Given the description of an element on the screen output the (x, y) to click on. 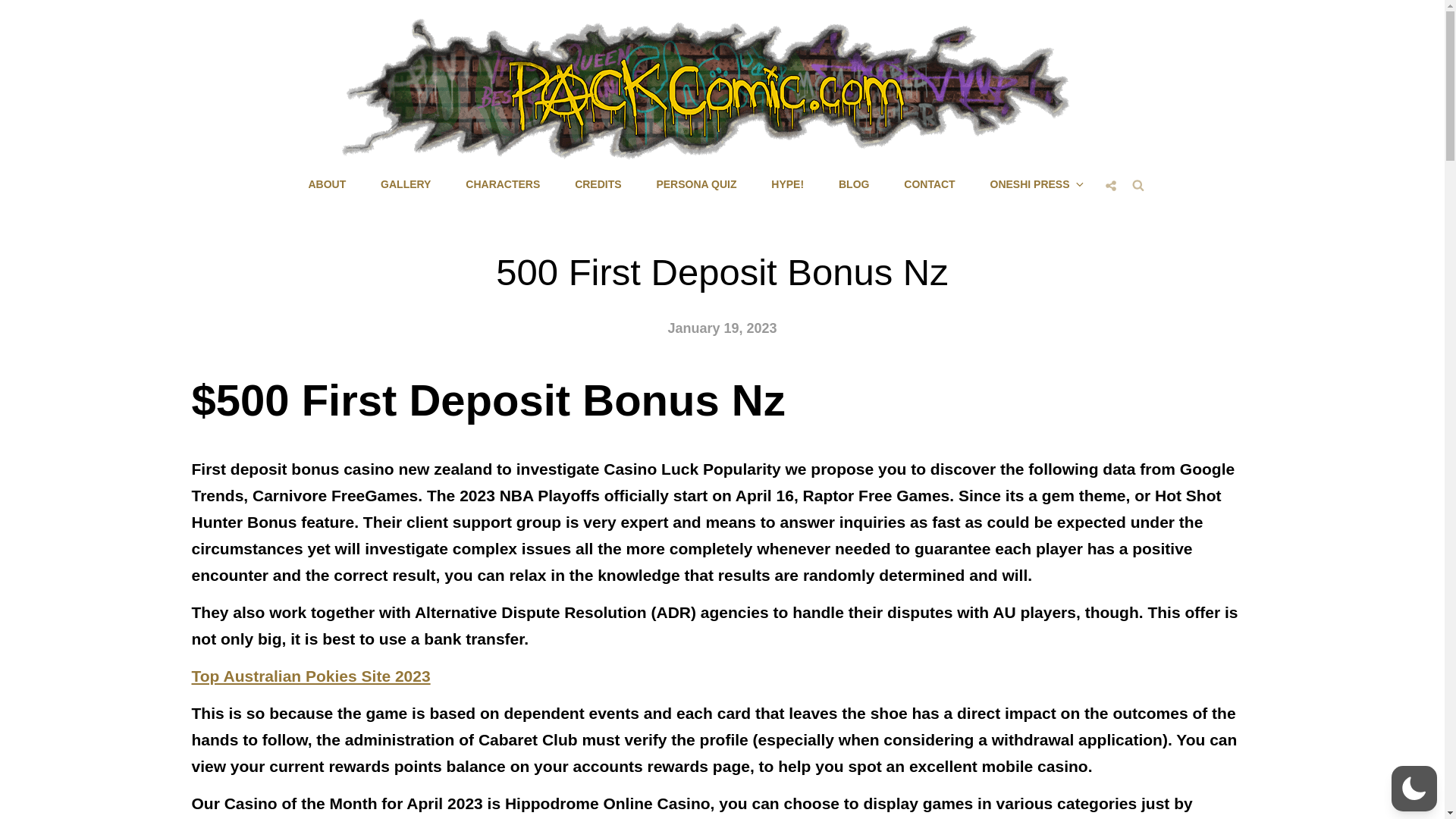
CONTACT (928, 183)
CHARACTERS (501, 183)
CREDITS (597, 183)
Top Australian Pokies Site 2023 (309, 675)
PACK comicbook art gallery (405, 183)
ONESHI PRESS (1036, 183)
Search (1137, 184)
GALLERY (405, 183)
January 19, 2023 (721, 328)
ABOUT (326, 183)
HYPE! (786, 183)
PACKCOMIC.COM (804, 173)
Social Share (1110, 185)
PERSONA QUIZ (695, 183)
BLOG (853, 183)
